Given the description of an element on the screen output the (x, y) to click on. 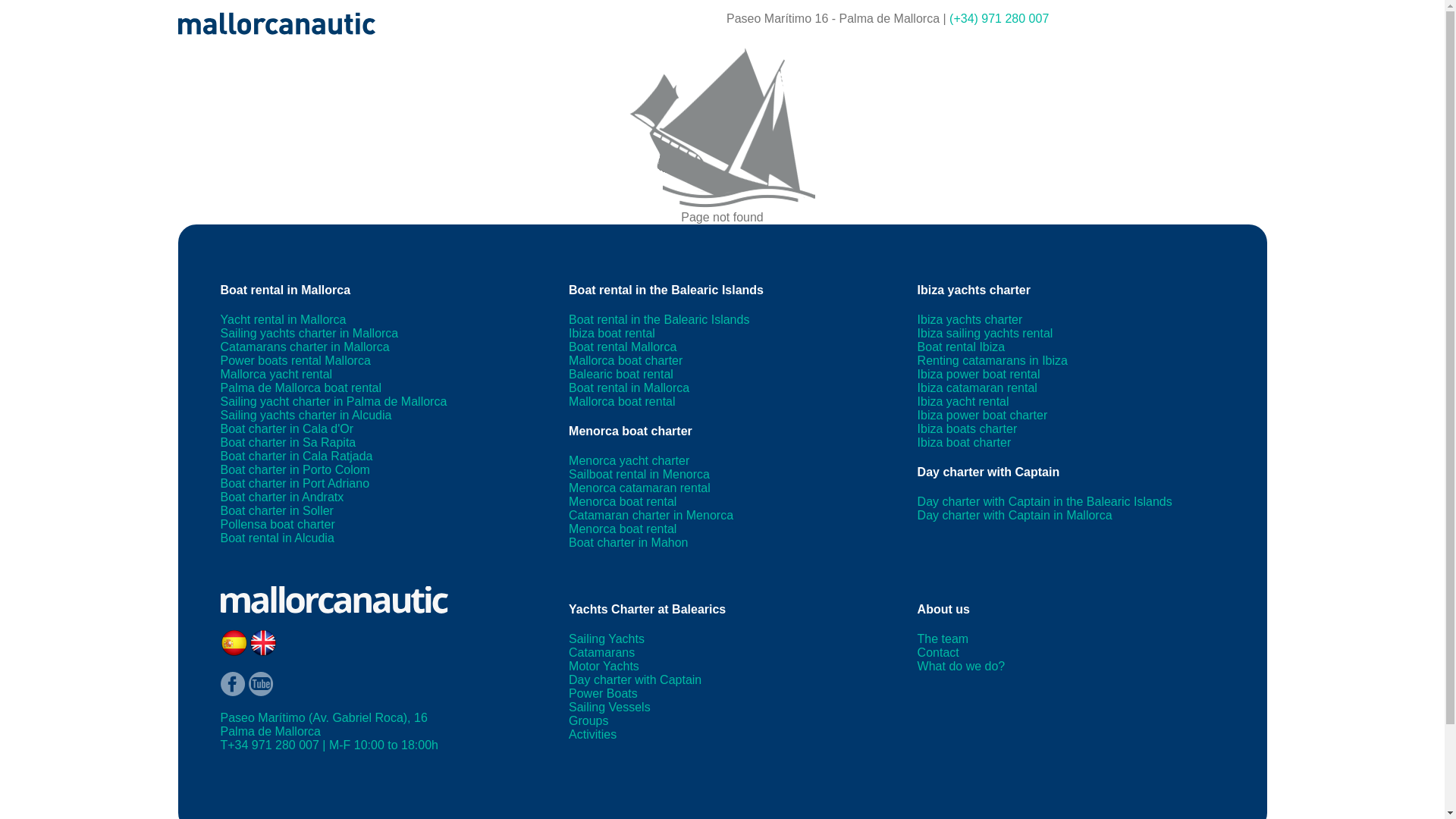
Boat rental in the Balearic Islands (659, 318)
Mallorca boat charter (625, 359)
Boat rental in Alcudia (276, 537)
Boat charter in Cala d'Or (286, 428)
Boat charter in Port Adriano (294, 482)
Catamarans charter in Mallorca (303, 346)
Power boats rental Mallorca (294, 359)
Boat charter in Andratx (281, 496)
Mallorca boat rental (622, 400)
Menorca yacht charter (628, 460)
